Given the description of an element on the screen output the (x, y) to click on. 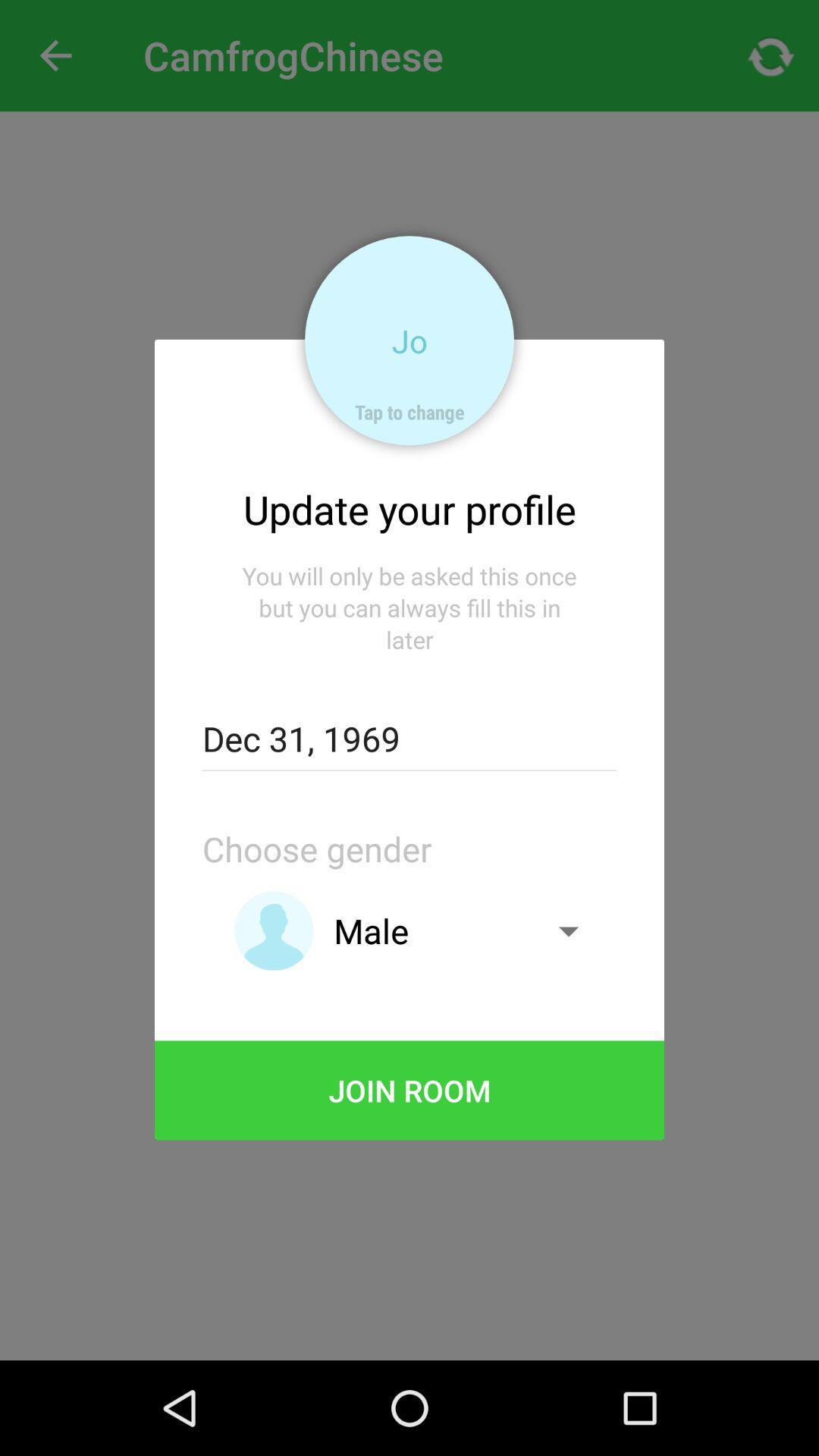
swipe until join room item (409, 1090)
